Given the description of an element on the screen output the (x, y) to click on. 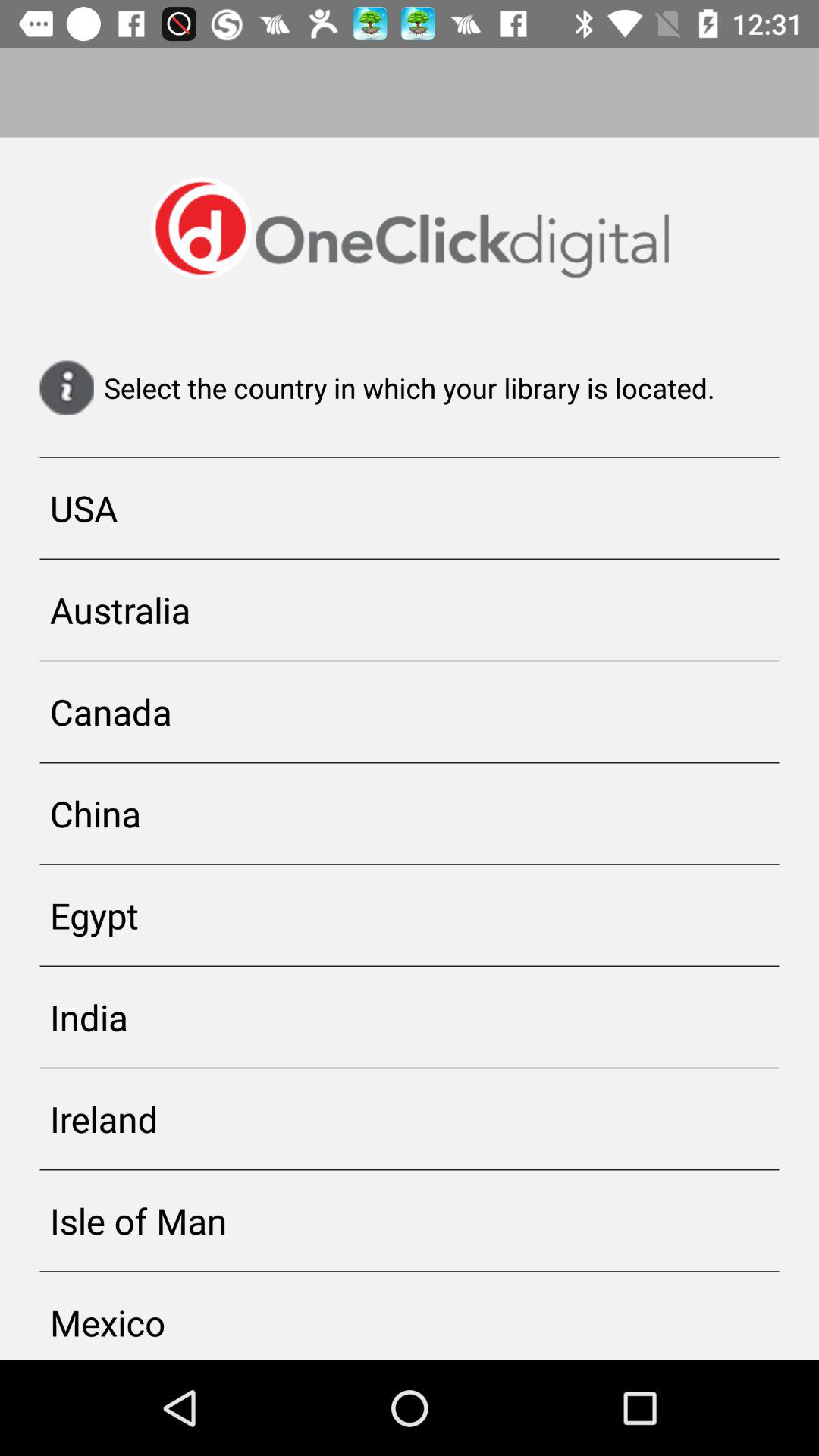
press the item above the india item (409, 915)
